Given the description of an element on the screen output the (x, y) to click on. 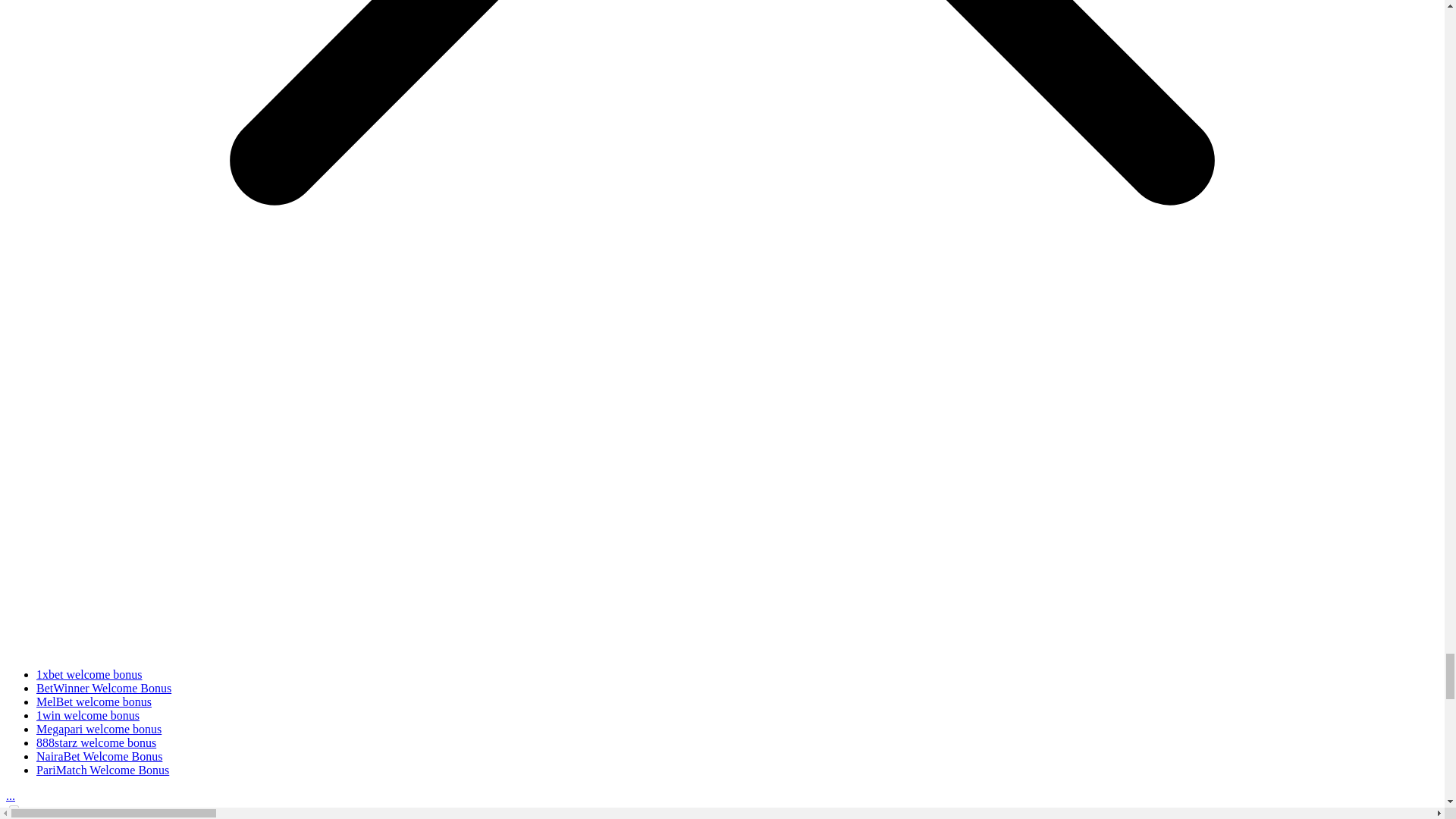
on (13, 809)
